Given the description of an element on the screen output the (x, y) to click on. 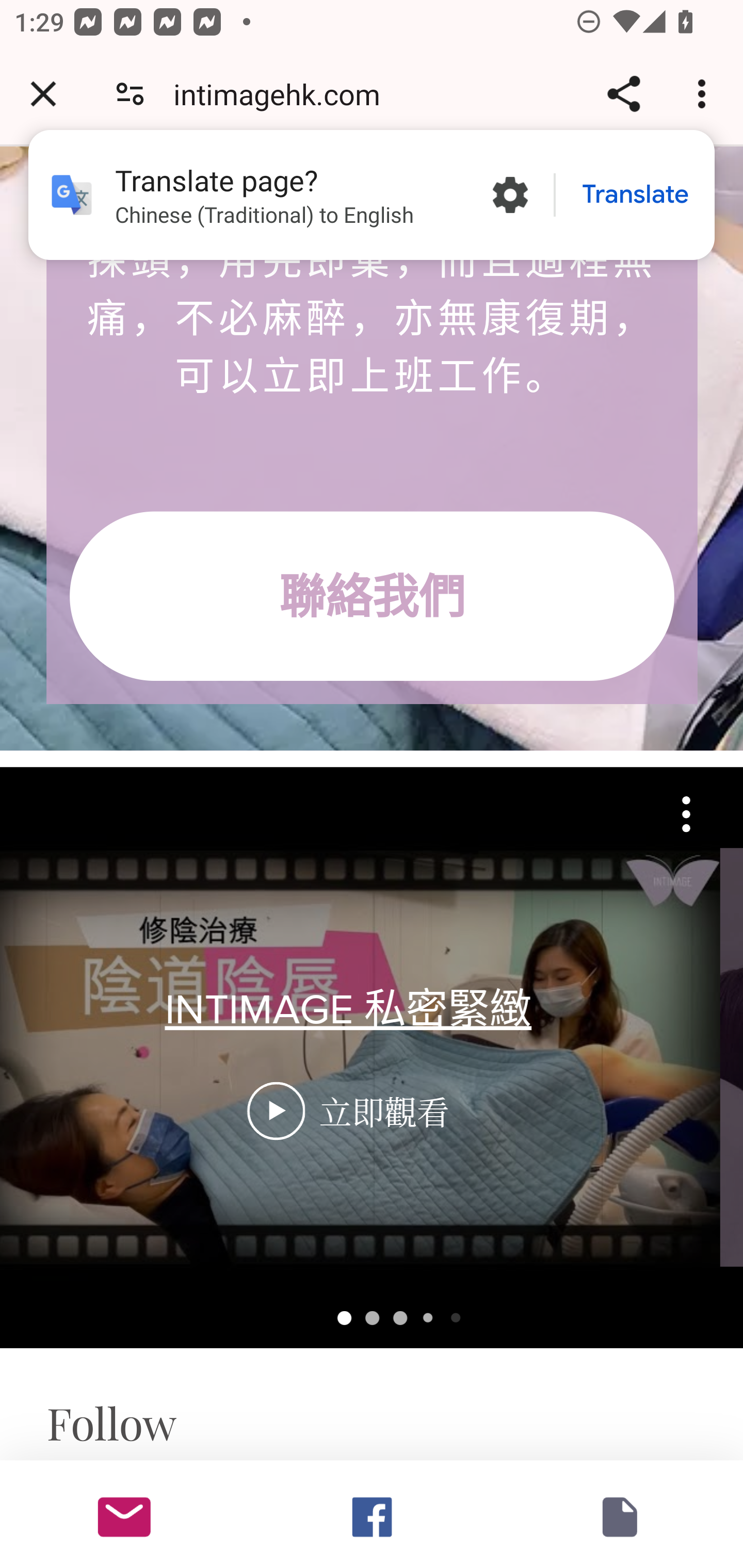
Close tab (43, 93)
Share (623, 93)
Customize and control Google Chrome (705, 93)
Connection is secure (129, 93)
intimagehk.com (283, 93)
Translate (634, 195)
More options in the Translate page? (509, 195)
聯絡我們 (371, 597)
選單 (694, 814)
立即觀看 (275, 1111)
Email (124, 1513)
Facebook (371, 1513)
Book Consultation (618, 1513)
